Given the description of an element on the screen output the (x, y) to click on. 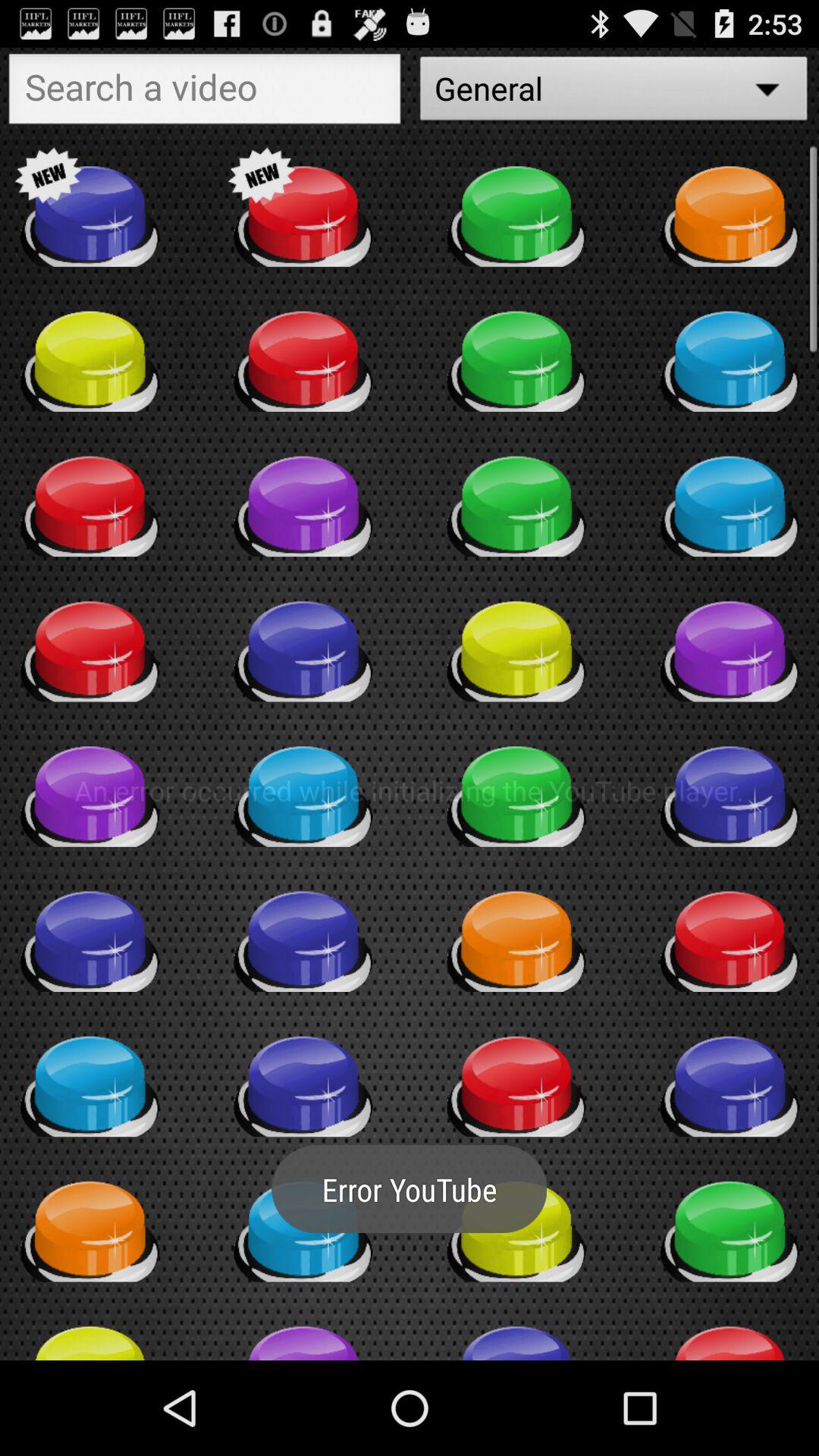
type in search bar (204, 92)
